Given the description of an element on the screen output the (x, y) to click on. 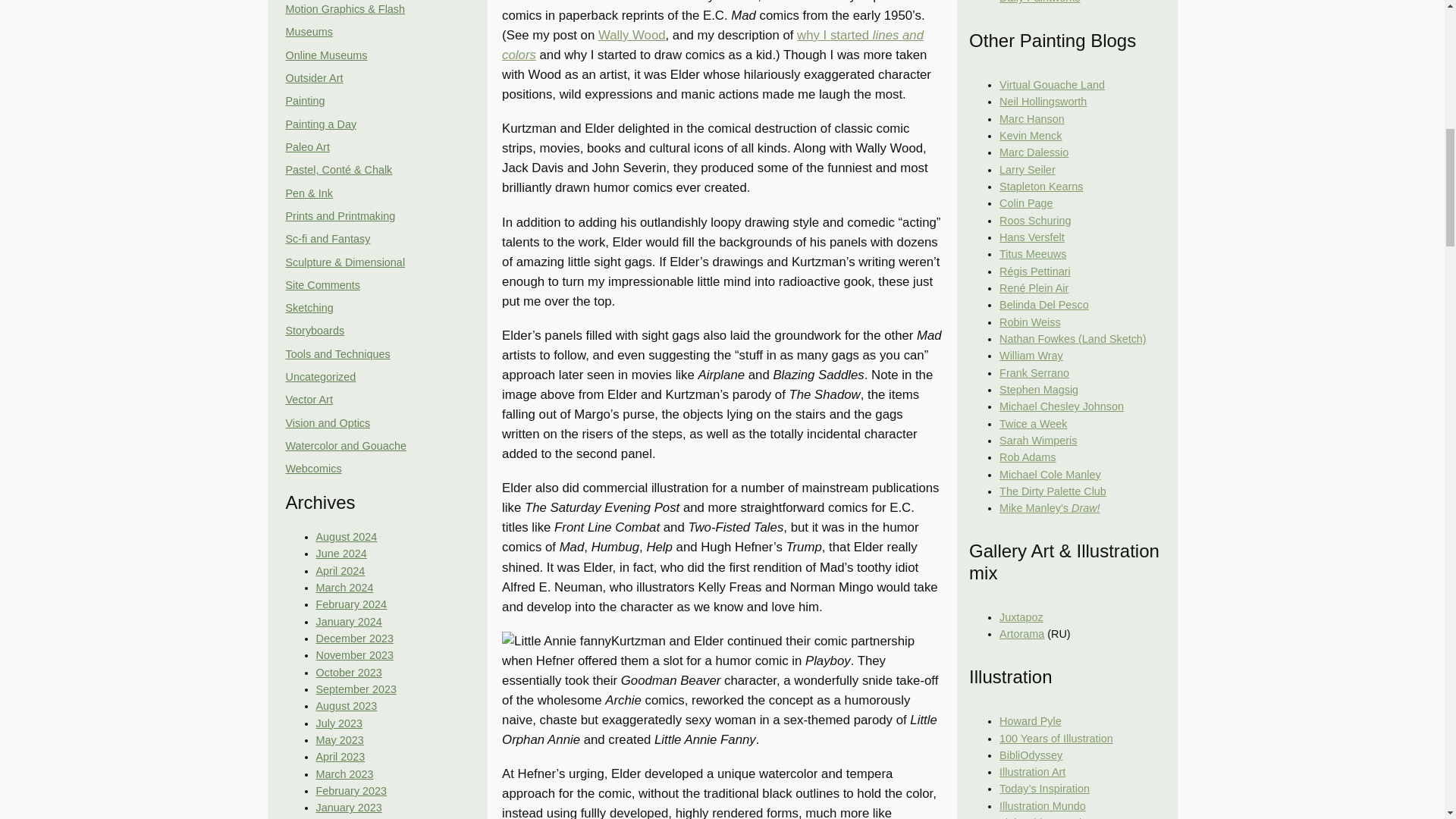
Storyboards (314, 330)
Online Museums (325, 55)
Paleo Art (307, 146)
Sc-fi and Fantasy (327, 238)
Sketching (309, 307)
Painting (304, 101)
Tools and Techniques (337, 354)
Outsider Art (313, 78)
Museums (308, 31)
Painting a Day (320, 123)
